Given the description of an element on the screen output the (x, y) to click on. 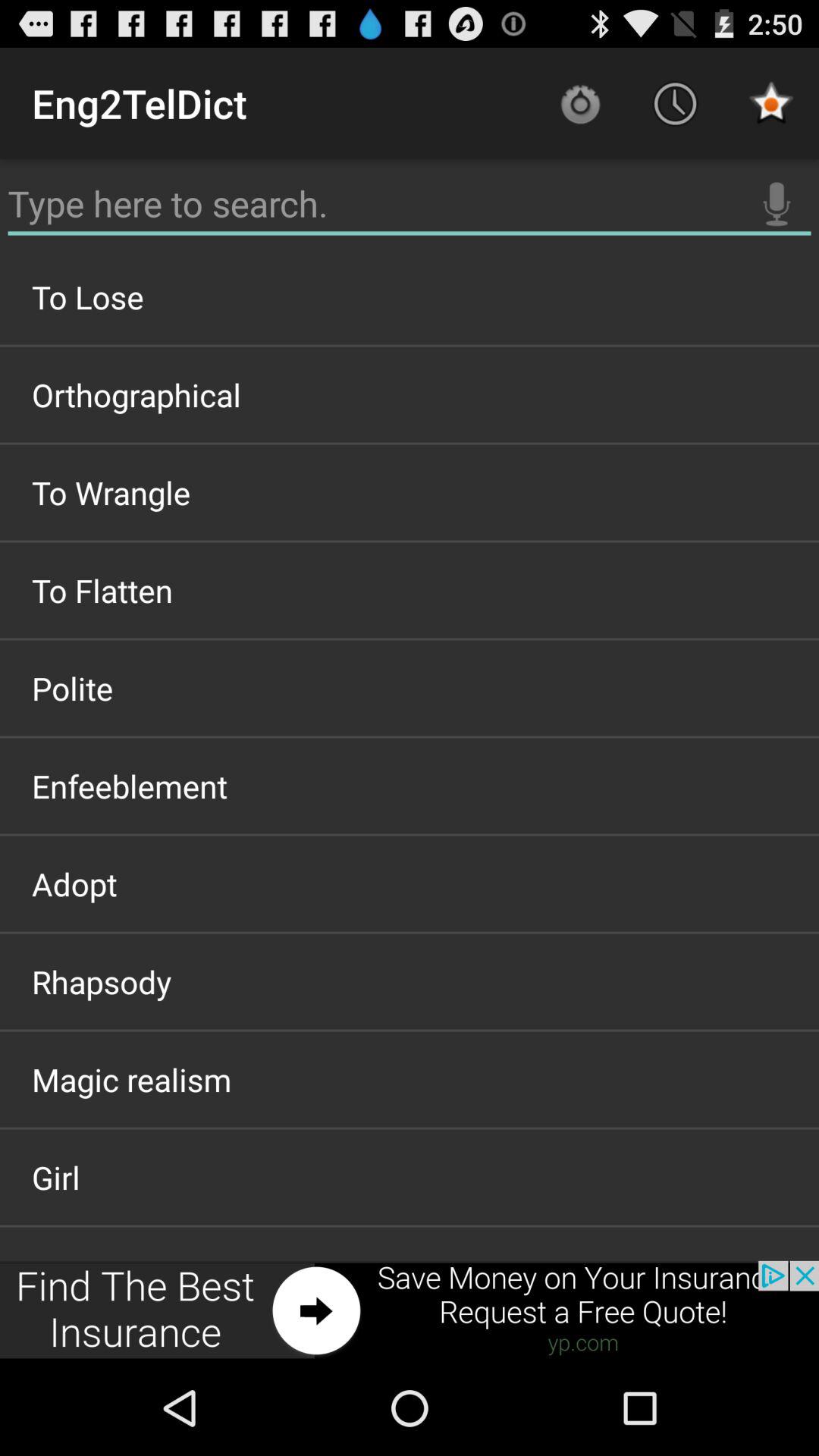
choose item below the to lose (409, 394)
